Given the description of an element on the screen output the (x, y) to click on. 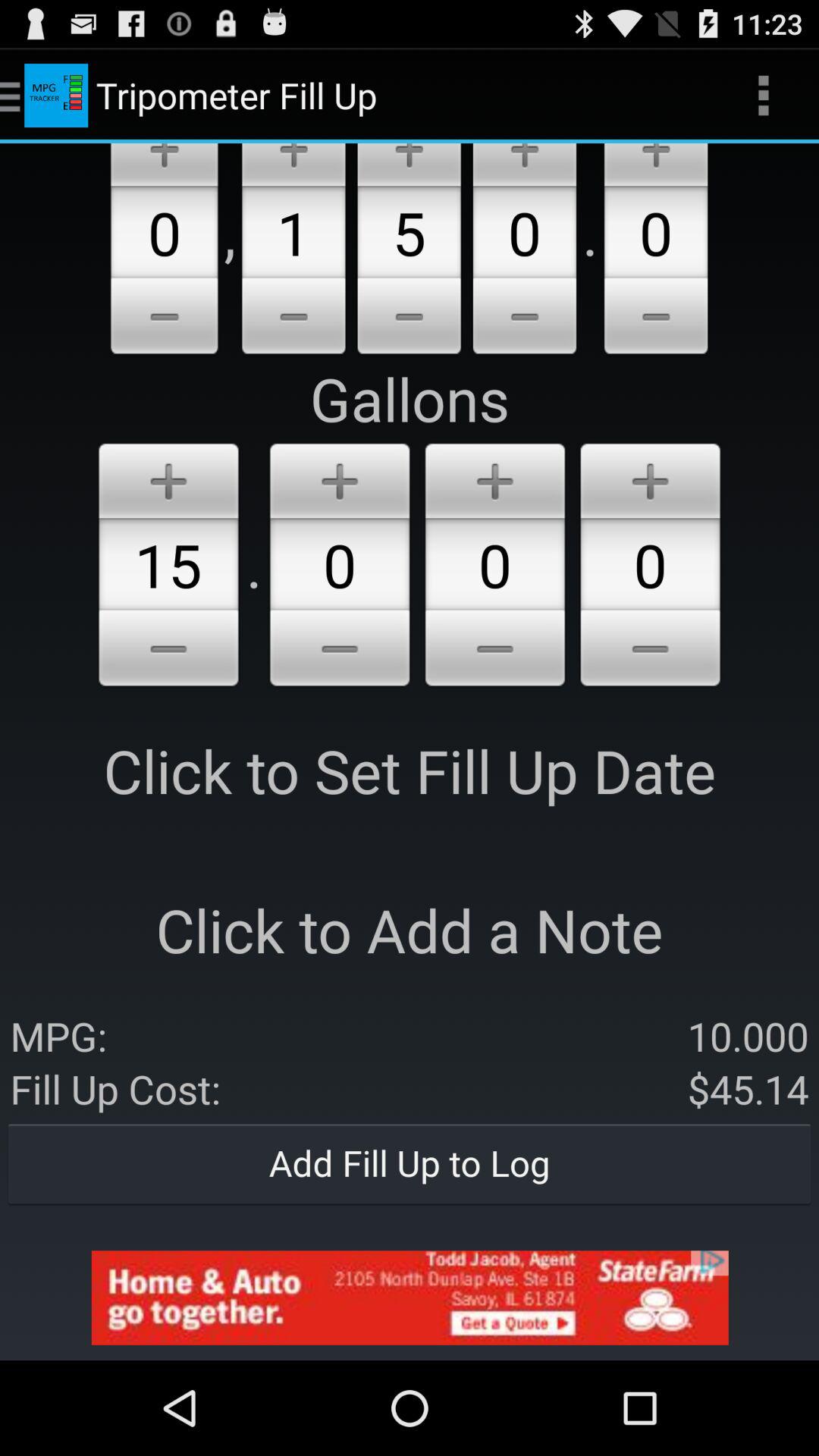
reduce (650, 651)
